Given the description of an element on the screen output the (x, y) to click on. 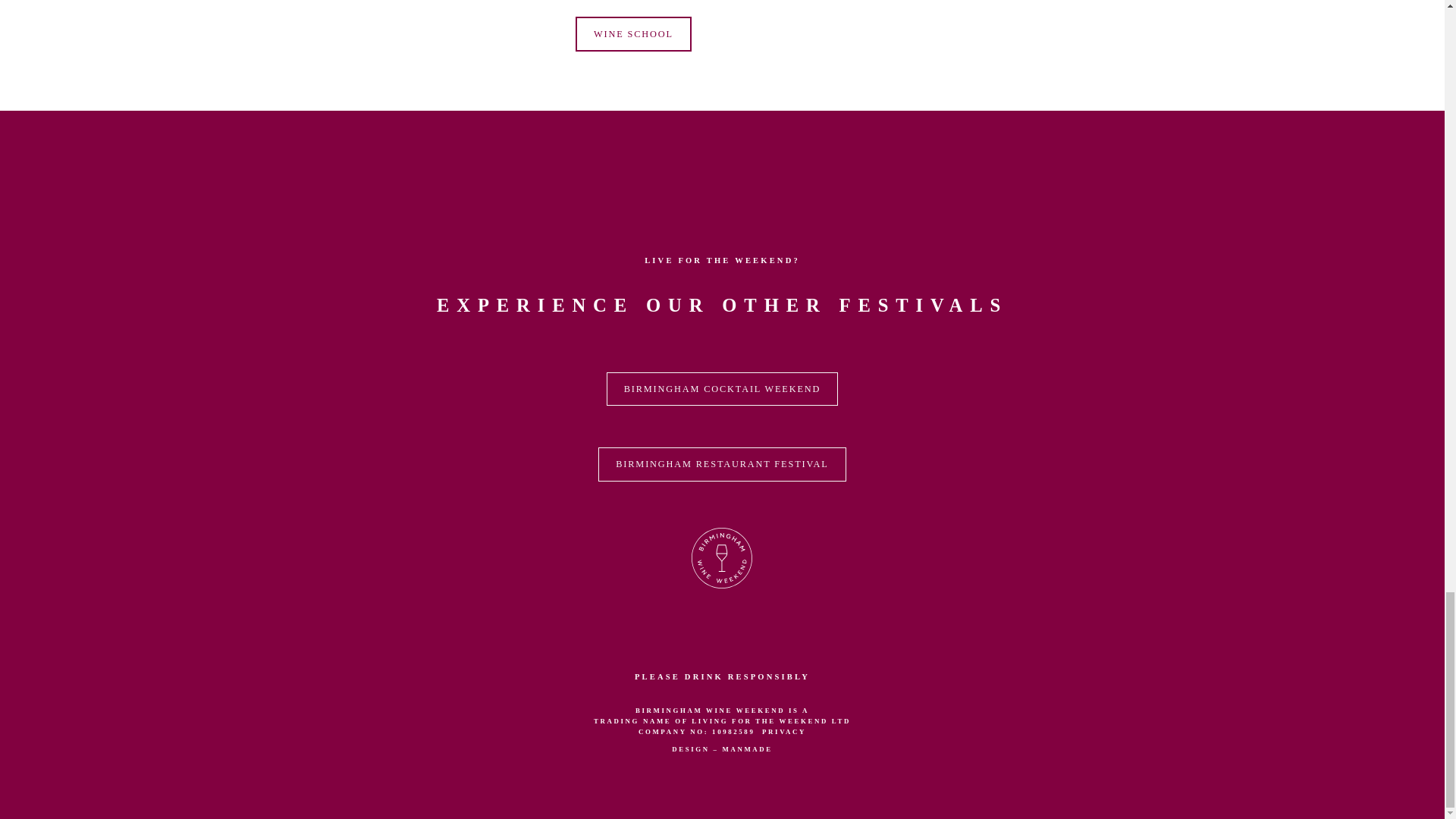
Wine Education (721, 557)
BIRMINGHAM COCKTAIL WEEKEND (722, 389)
Page 2 (722, 285)
PRIVACY (783, 731)
WINE SCHOOL (633, 34)
MANMADE (746, 748)
BIRMINGHAM RESTAURANT FESTIVAL (721, 464)
